Given the description of an element on the screen output the (x, y) to click on. 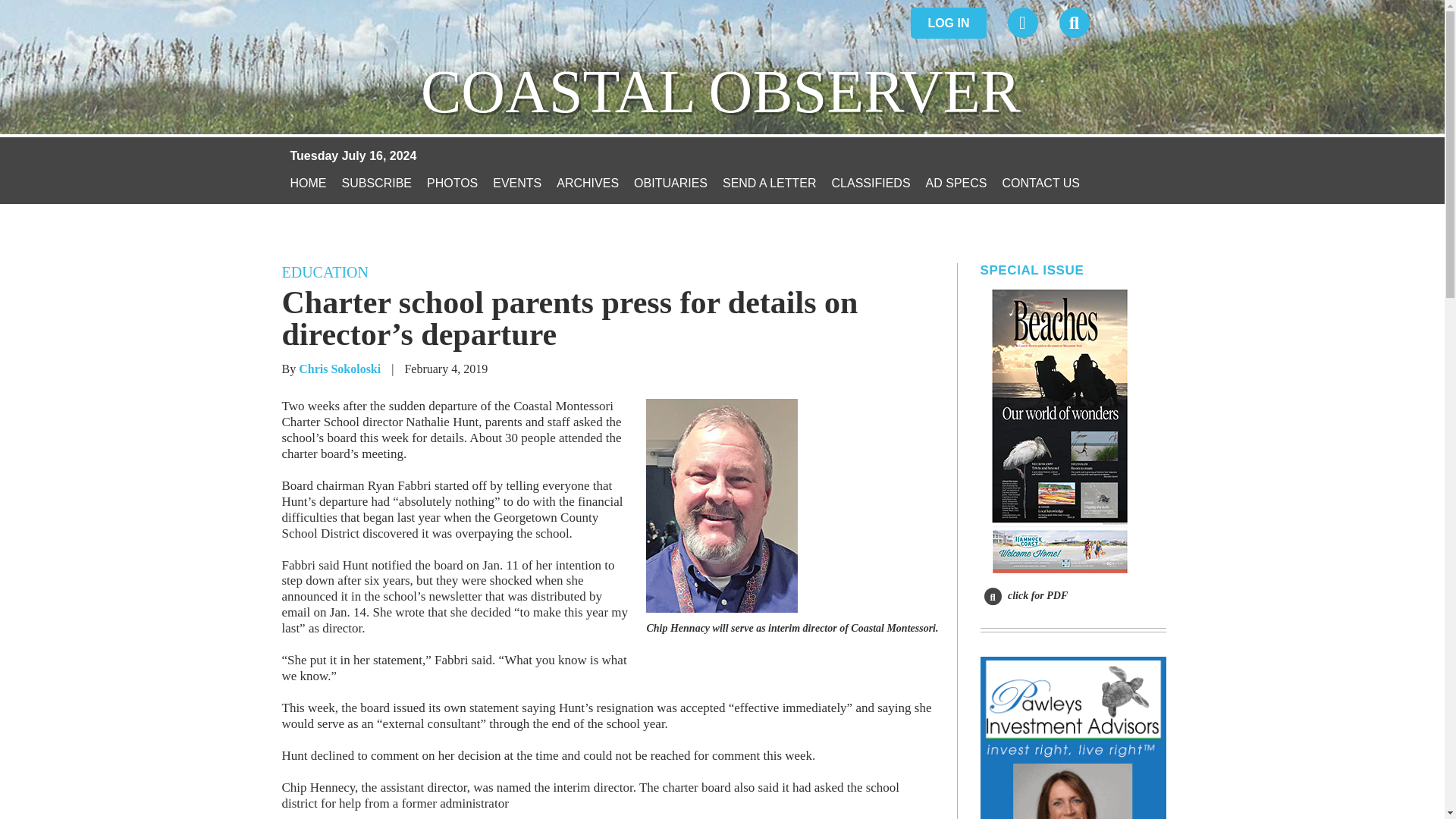
HOME (307, 182)
CLASSIFIEDS (871, 182)
AD SPECS (956, 182)
SEND A LETTER (769, 182)
ARCHIVES (587, 182)
EVENTS (517, 182)
OBITUARIES (670, 182)
Chris Sokoloski (339, 368)
PHOTOS (451, 182)
LOG IN (948, 22)
CONTACT US (1041, 182)
SUBSCRIBE (375, 182)
click for PDF (1026, 595)
